Given the description of an element on the screen output the (x, y) to click on. 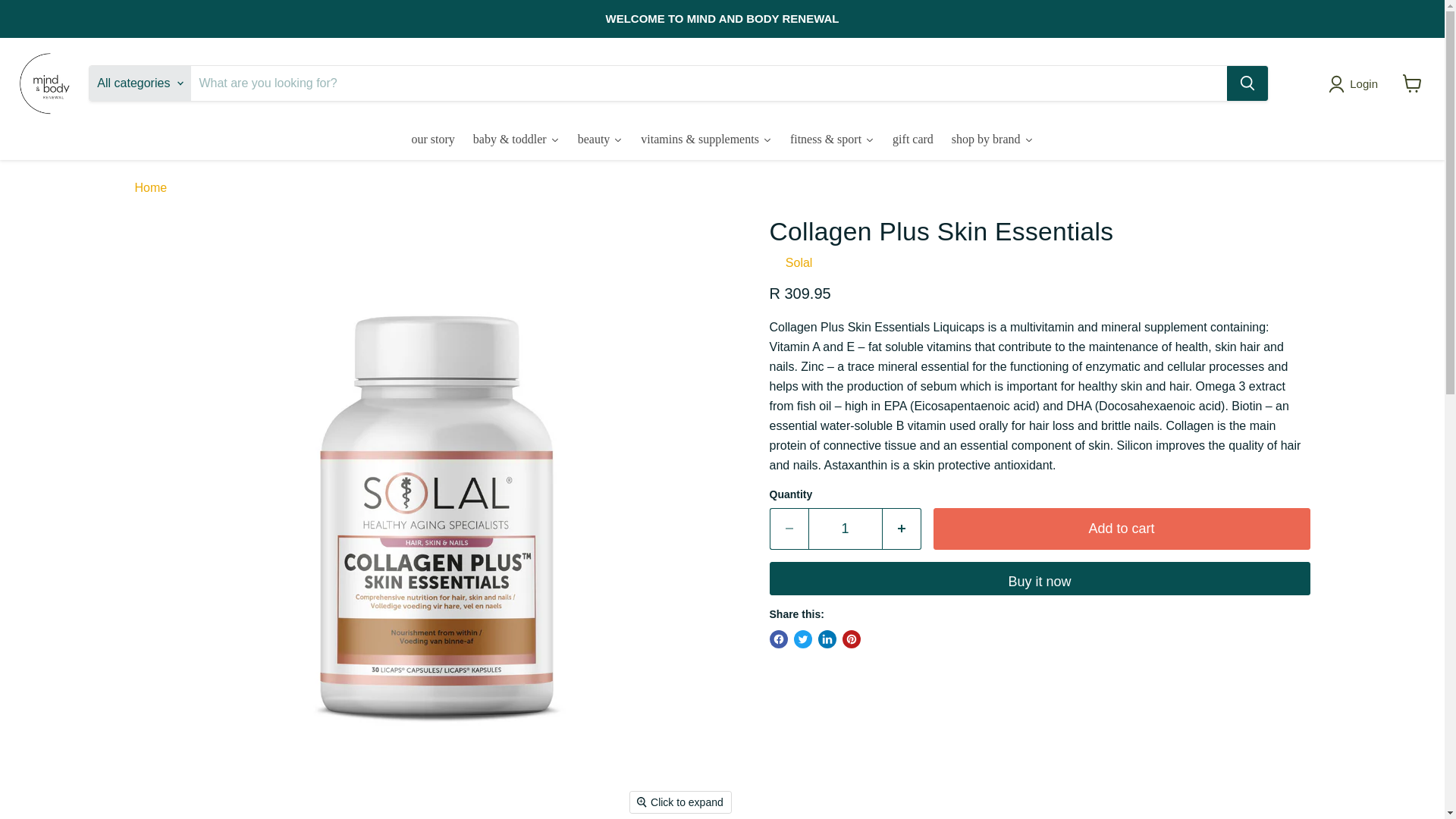
gift card (912, 140)
Add to cart (1120, 528)
Solal (799, 262)
Home (151, 187)
1 (845, 528)
beauty (600, 140)
our story (432, 140)
Click to expand (680, 802)
View cart (1411, 82)
gift card (912, 140)
